Given the description of an element on the screen output the (x, y) to click on. 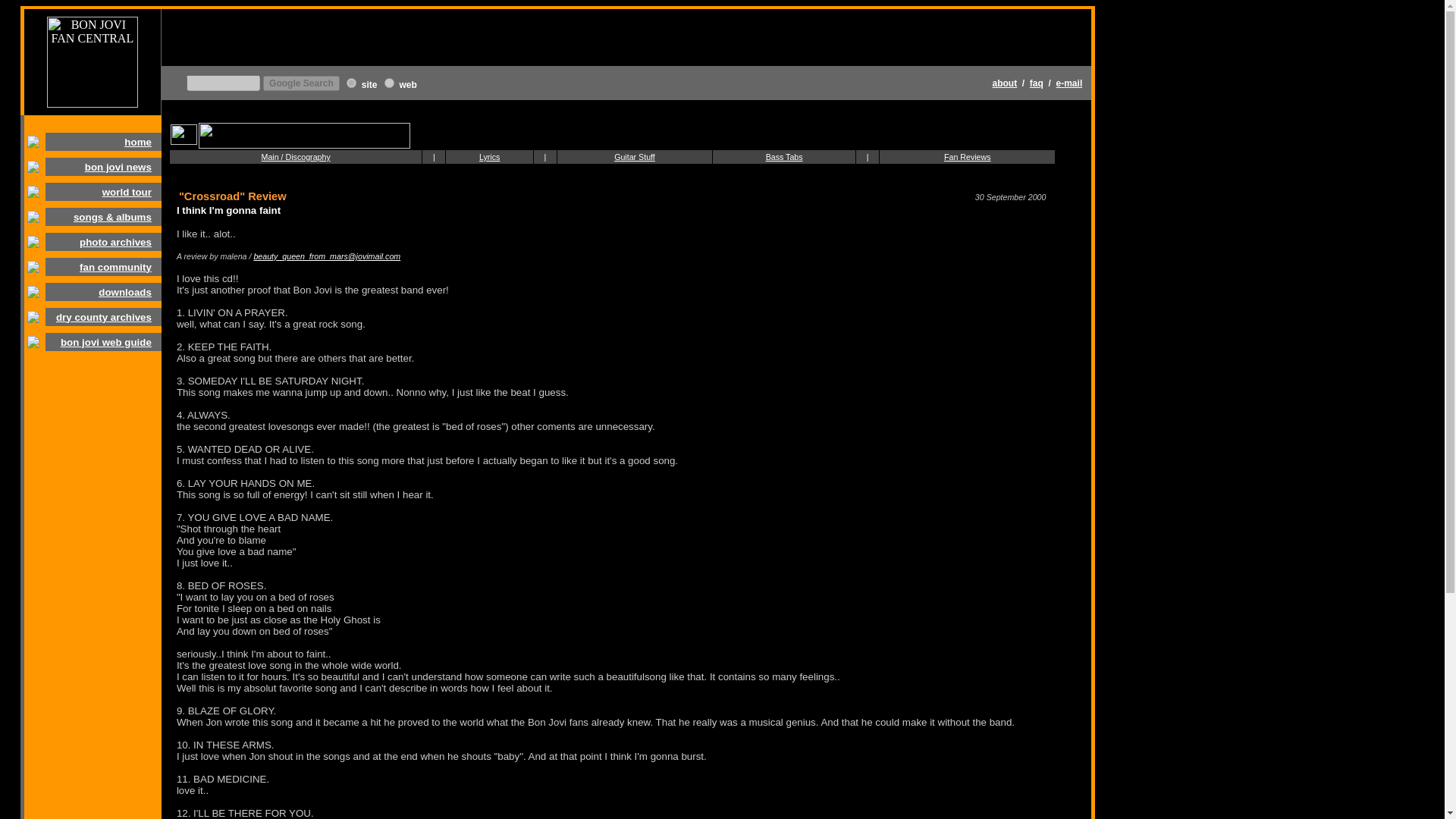
downloads (125, 292)
faq (1036, 81)
Guitar Stuff (634, 156)
about (1004, 81)
Bass Tabs (784, 156)
e-mail (1070, 81)
Search www.drycounty.com (369, 83)
Lyrics (489, 156)
photo archives (115, 242)
home (137, 142)
Fan Reviews (967, 156)
Search the Web (407, 83)
www.drycounty.com (351, 81)
world tour (126, 192)
bon jovi news (117, 165)
